Given the description of an element on the screen output the (x, y) to click on. 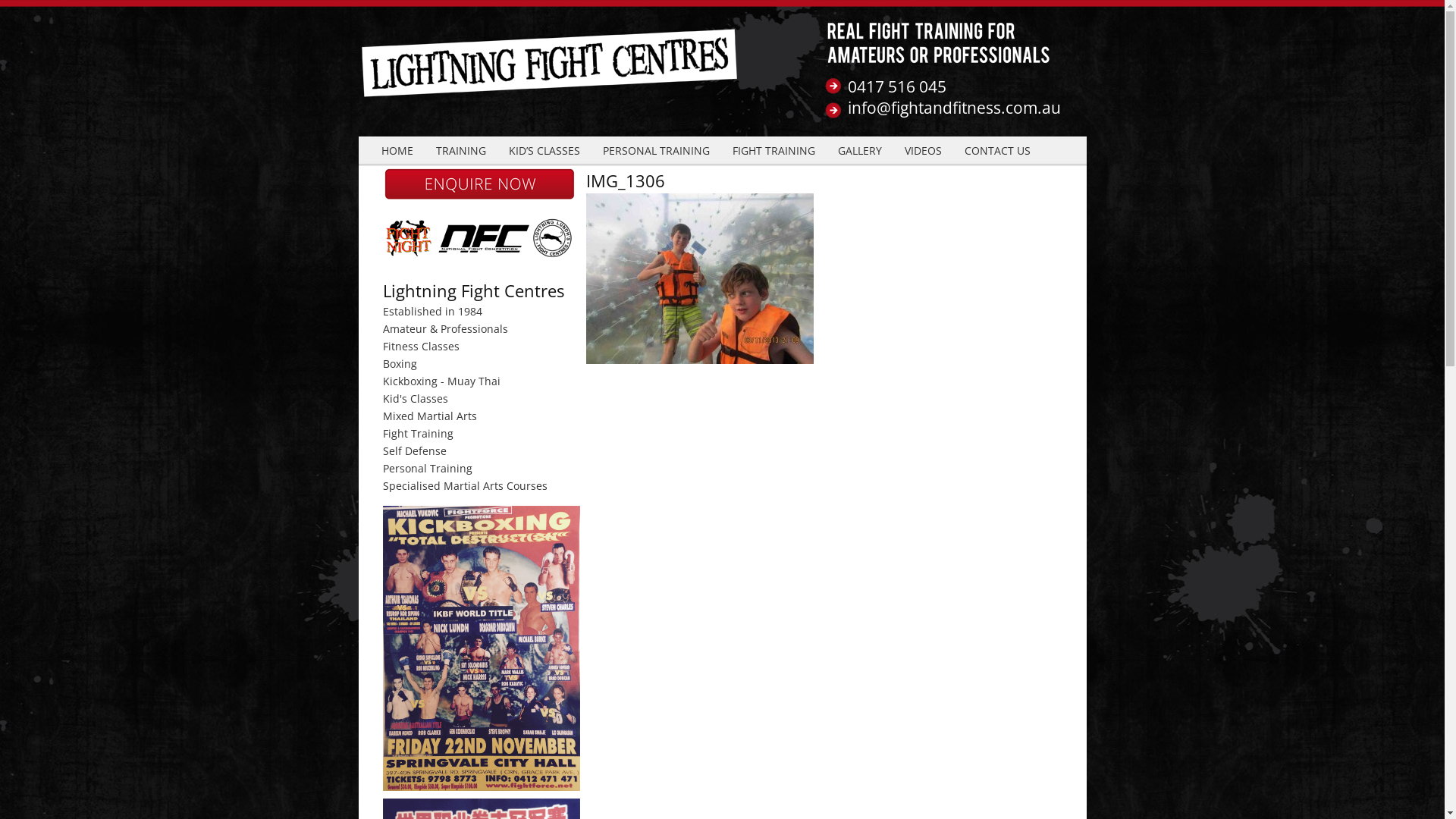
HOME Element type: text (397, 150)
enquire Element type: hover (478, 197)
VIDEOS Element type: text (923, 150)
GALLERY Element type: text (859, 150)
FIGHT TRAINING Element type: text (772, 150)
Lightning Fight Centres Element type: text (549, 73)
TRAINING Element type: text (460, 150)
CONTACT US Element type: text (996, 150)
PERSONAL TRAINING Element type: text (656, 150)
